Given the description of an element on the screen output the (x, y) to click on. 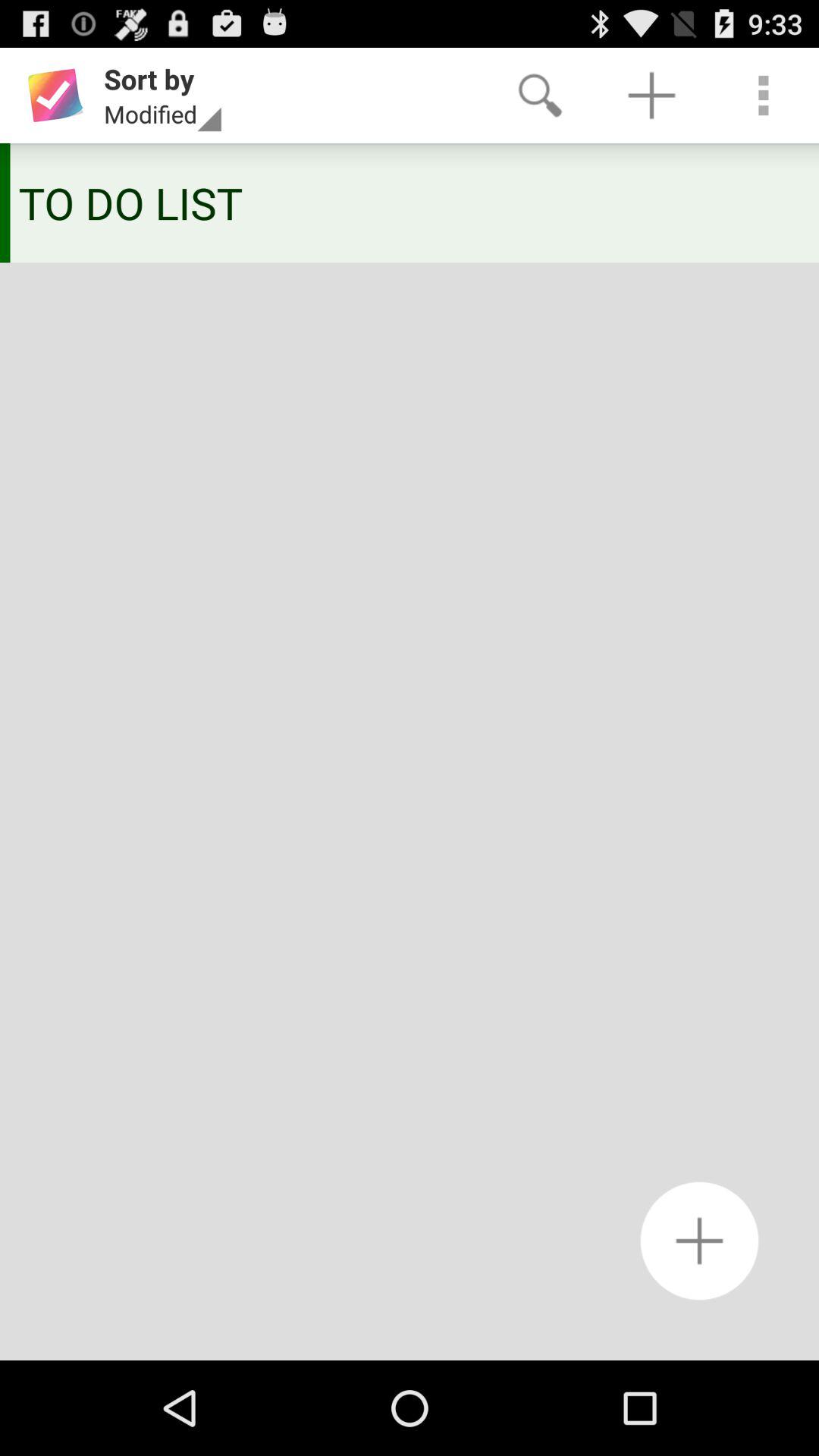
add a task (699, 1240)
